Given the description of an element on the screen output the (x, y) to click on. 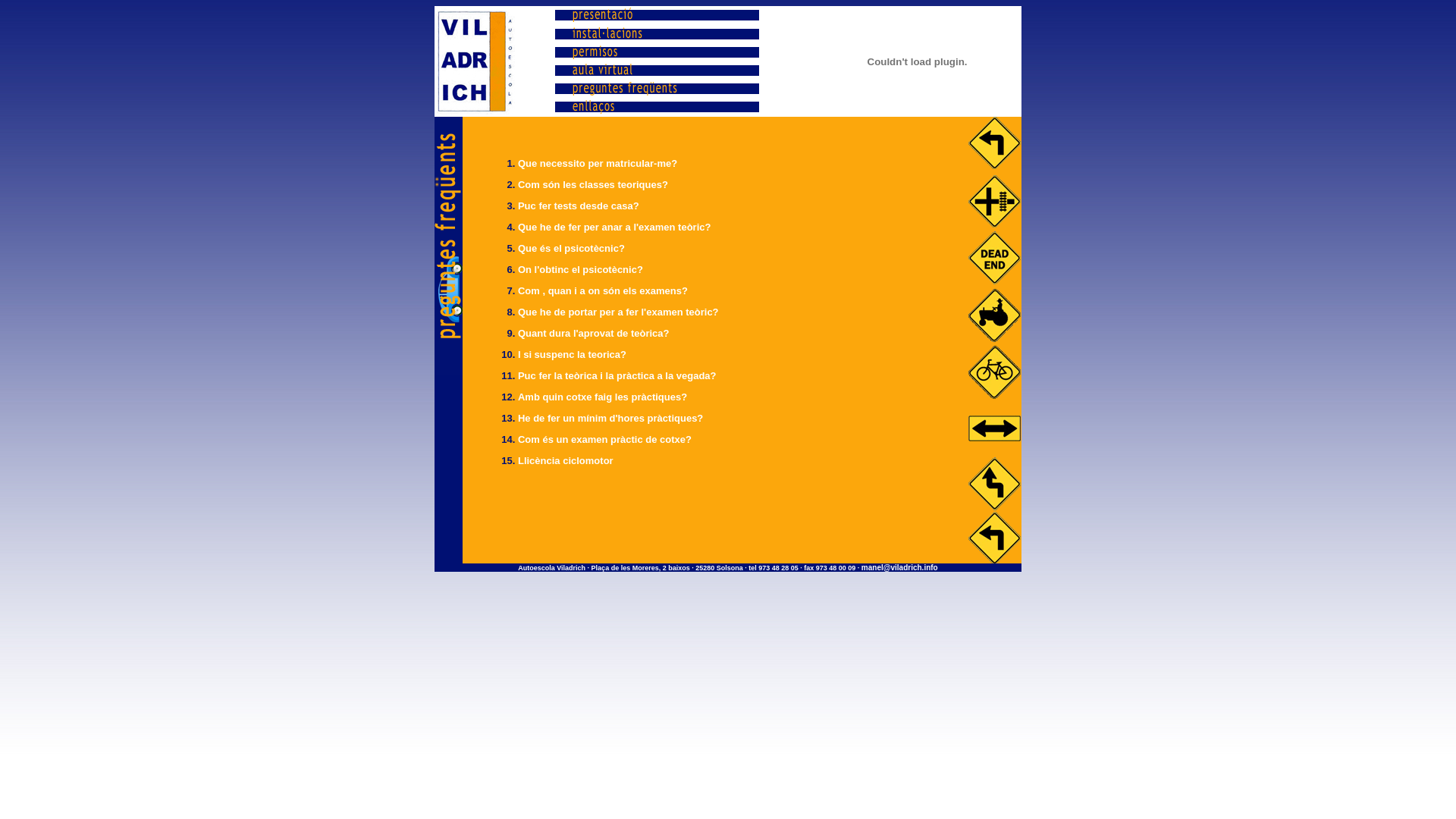
Que necessito per matricular-me? Element type: text (597, 163)
Puc fer tests desde casa? Element type: text (578, 205)
manel@viladrich.info Element type: text (899, 566)
I si suspenc la teorica? Element type: text (571, 354)
